Given the description of an element on the screen output the (x, y) to click on. 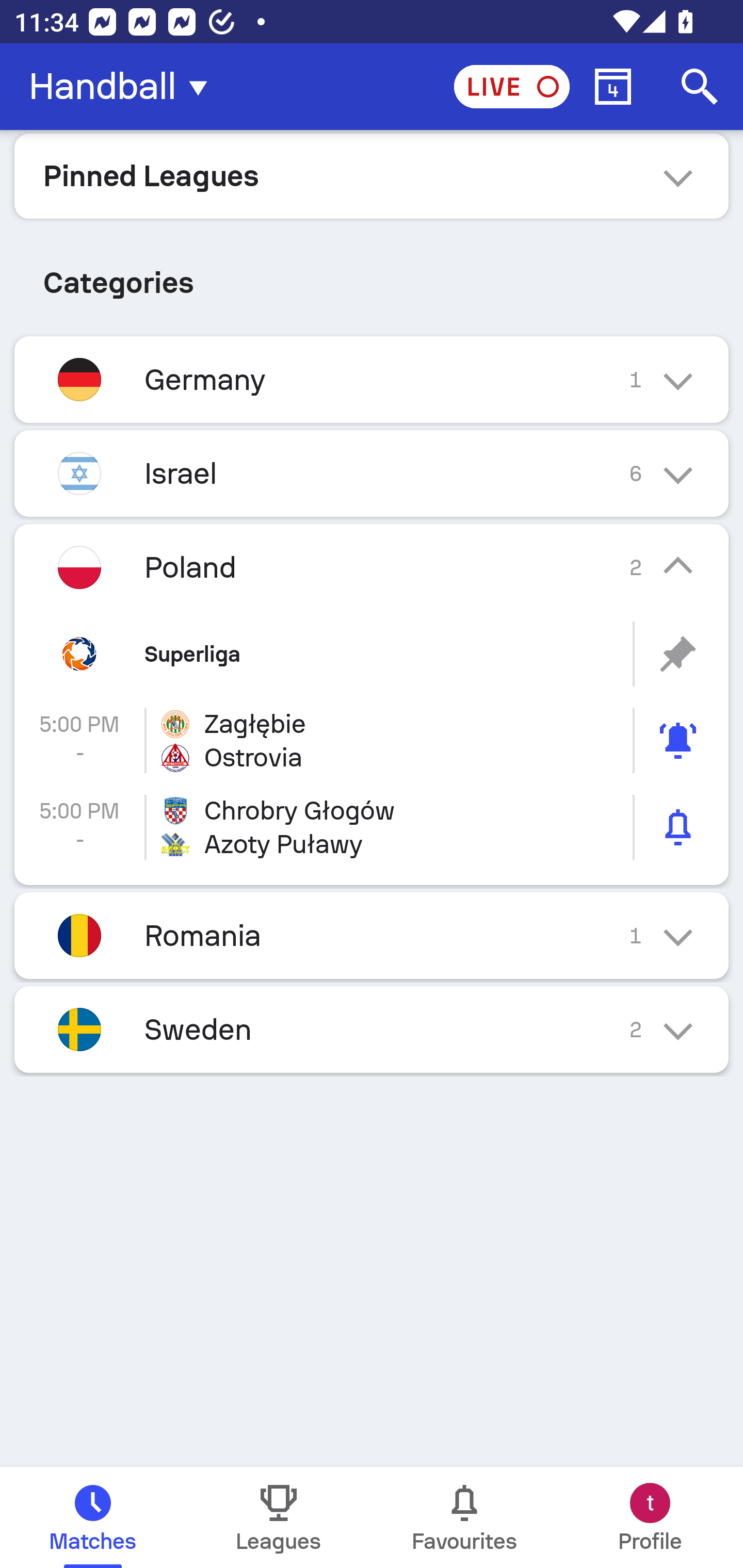
Handball (124, 86)
Calendar (612, 86)
Search (699, 86)
Pinned Leagues (371, 175)
Categories (371, 275)
Germany 1 (371, 379)
Israel 6 (371, 473)
Poland 2 (371, 566)
Superliga (371, 653)
5:00 PM - Zagłębie Ostrovia (371, 740)
5:00 PM - Chrobry Głogów Azoty Puławy (371, 827)
Romania 1 (371, 935)
Sweden 2 (371, 1029)
Leagues (278, 1517)
Favourites (464, 1517)
Profile (650, 1517)
